Given the description of an element on the screen output the (x, y) to click on. 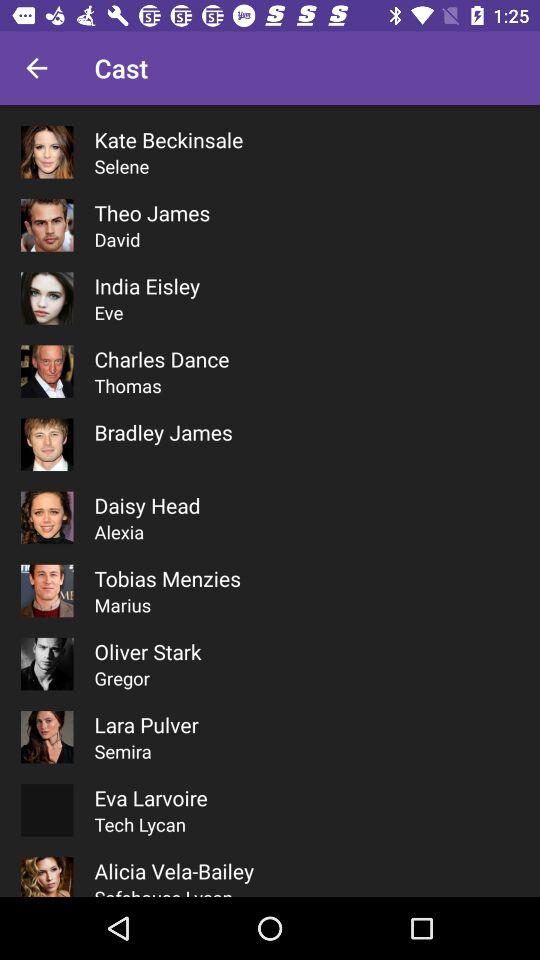
jump to alexia item (119, 531)
